Given the description of an element on the screen output the (x, y) to click on. 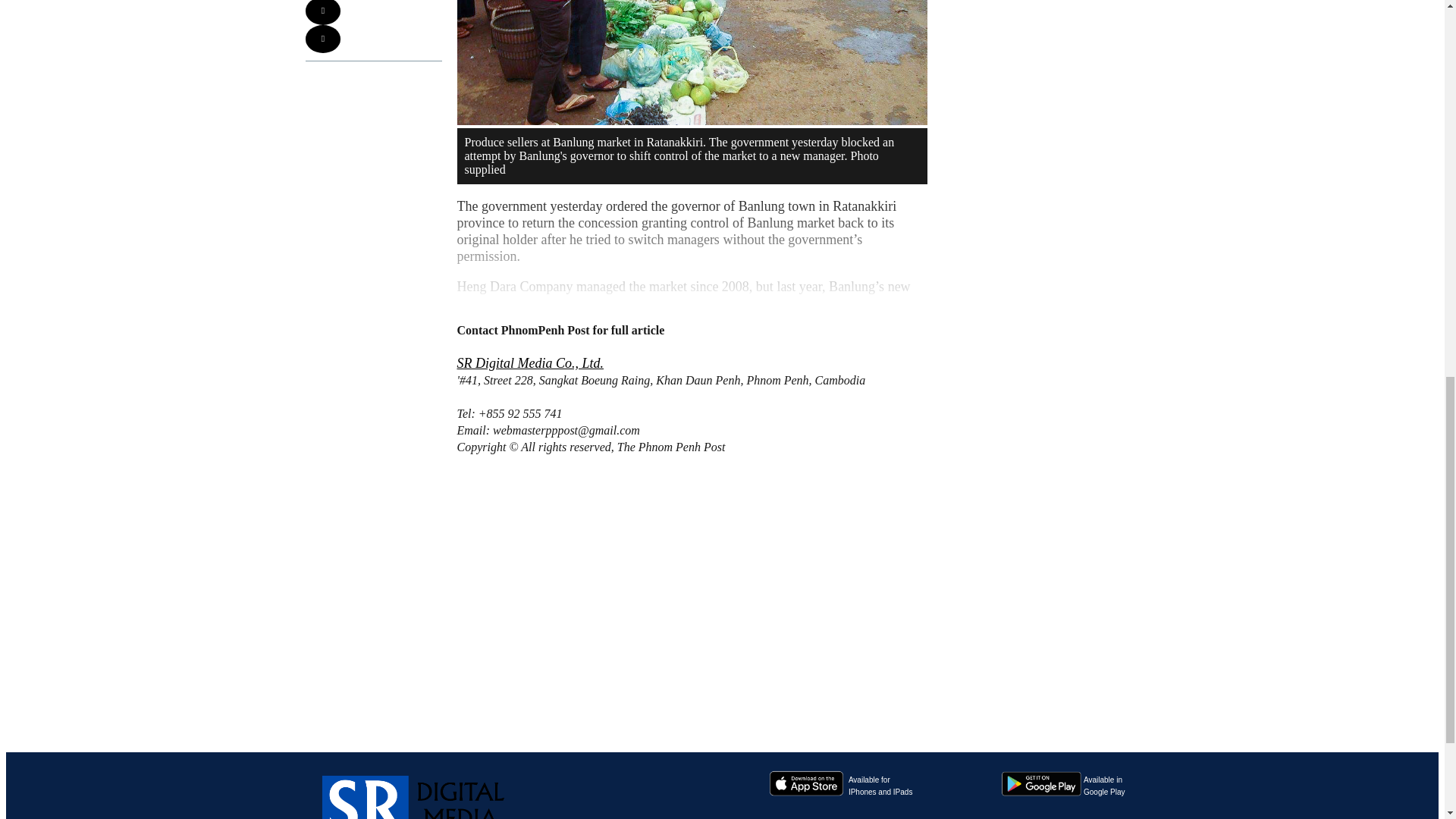
Facebook (805, 818)
SR Digital Media Co., Ltd. (1103, 785)
